Given the description of an element on the screen output the (x, y) to click on. 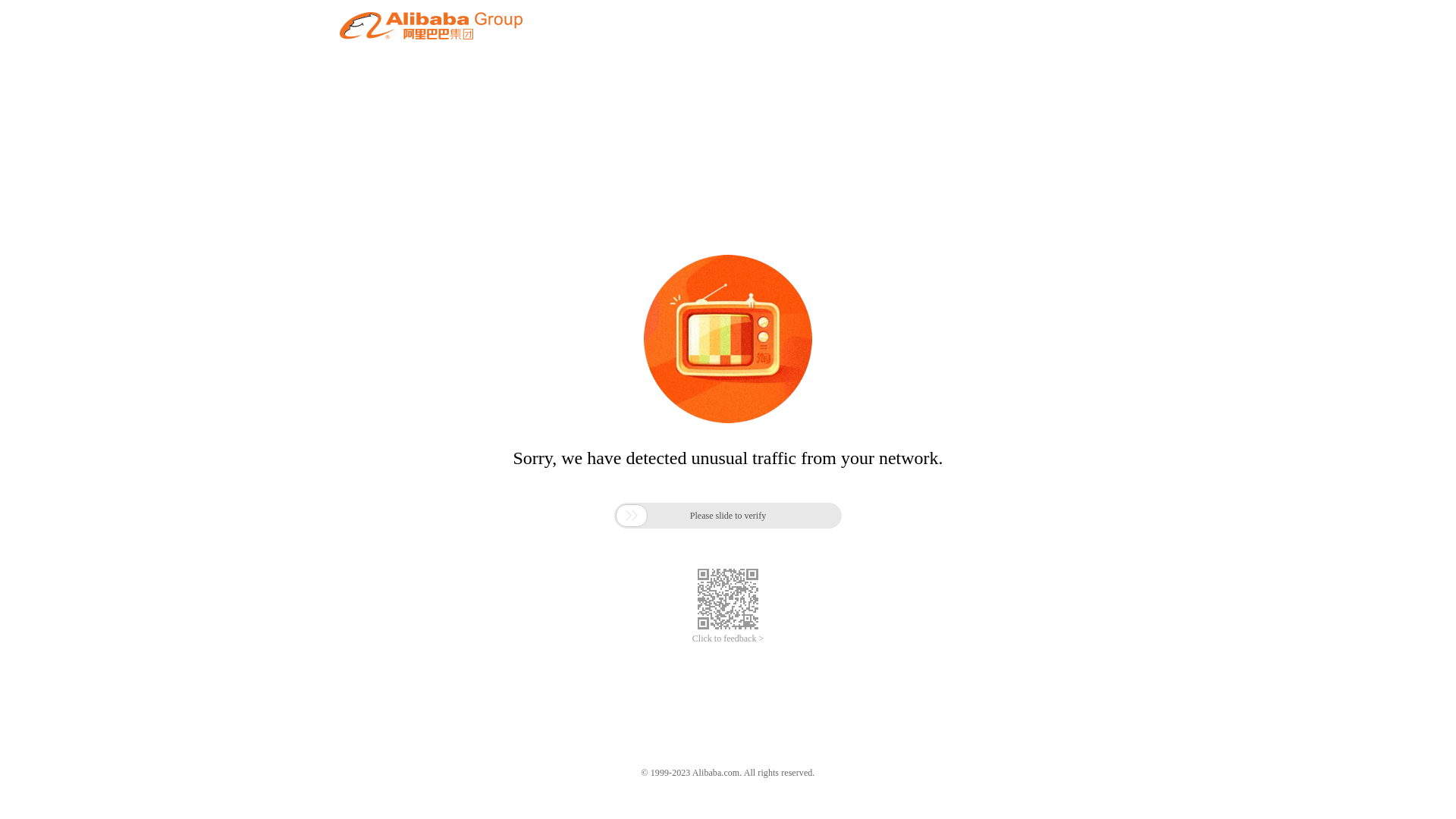
Click to feedback > Element type: text (727, 638)
